Given the description of an element on the screen output the (x, y) to click on. 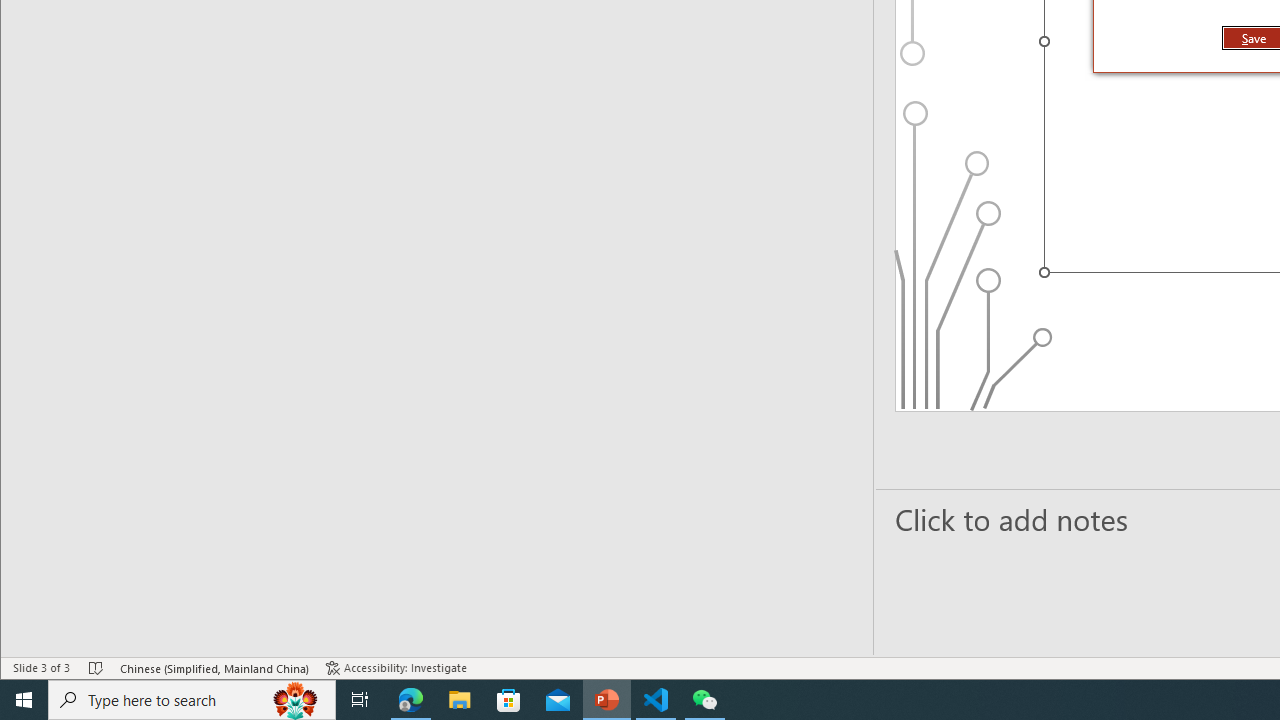
WeChat - 1 running window (704, 699)
Type here to search (191, 699)
Task View (359, 699)
PowerPoint - 1 running window (607, 699)
Microsoft Edge - 1 running window (411, 699)
Start (24, 699)
Accessibility Checker Accessibility: Investigate (395, 668)
Visual Studio Code - 1 running window (656, 699)
File Explorer (460, 699)
Microsoft Store (509, 699)
Search highlights icon opens search home window (295, 699)
